Given the description of an element on the screen output the (x, y) to click on. 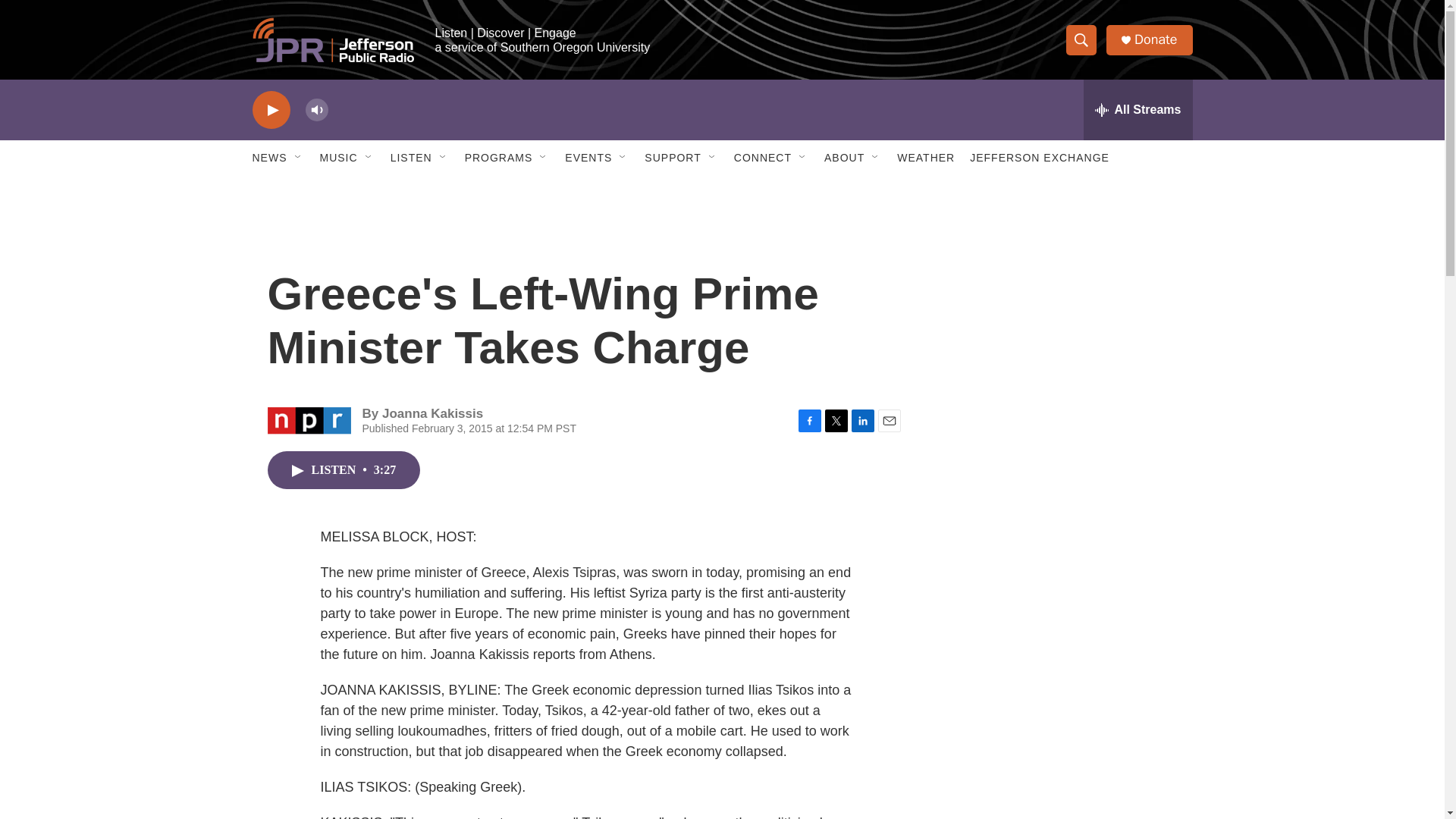
3rd party ad content (1062, 316)
3rd party ad content (1062, 536)
3rd party ad content (1062, 740)
